Given the description of an element on the screen output the (x, y) to click on. 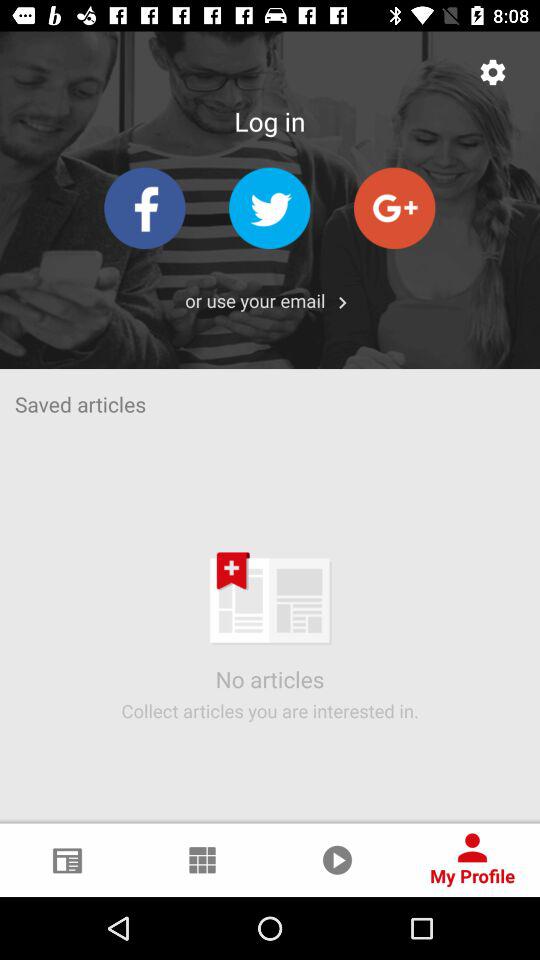
toggle twitter (269, 208)
